Given the description of an element on the screen output the (x, y) to click on. 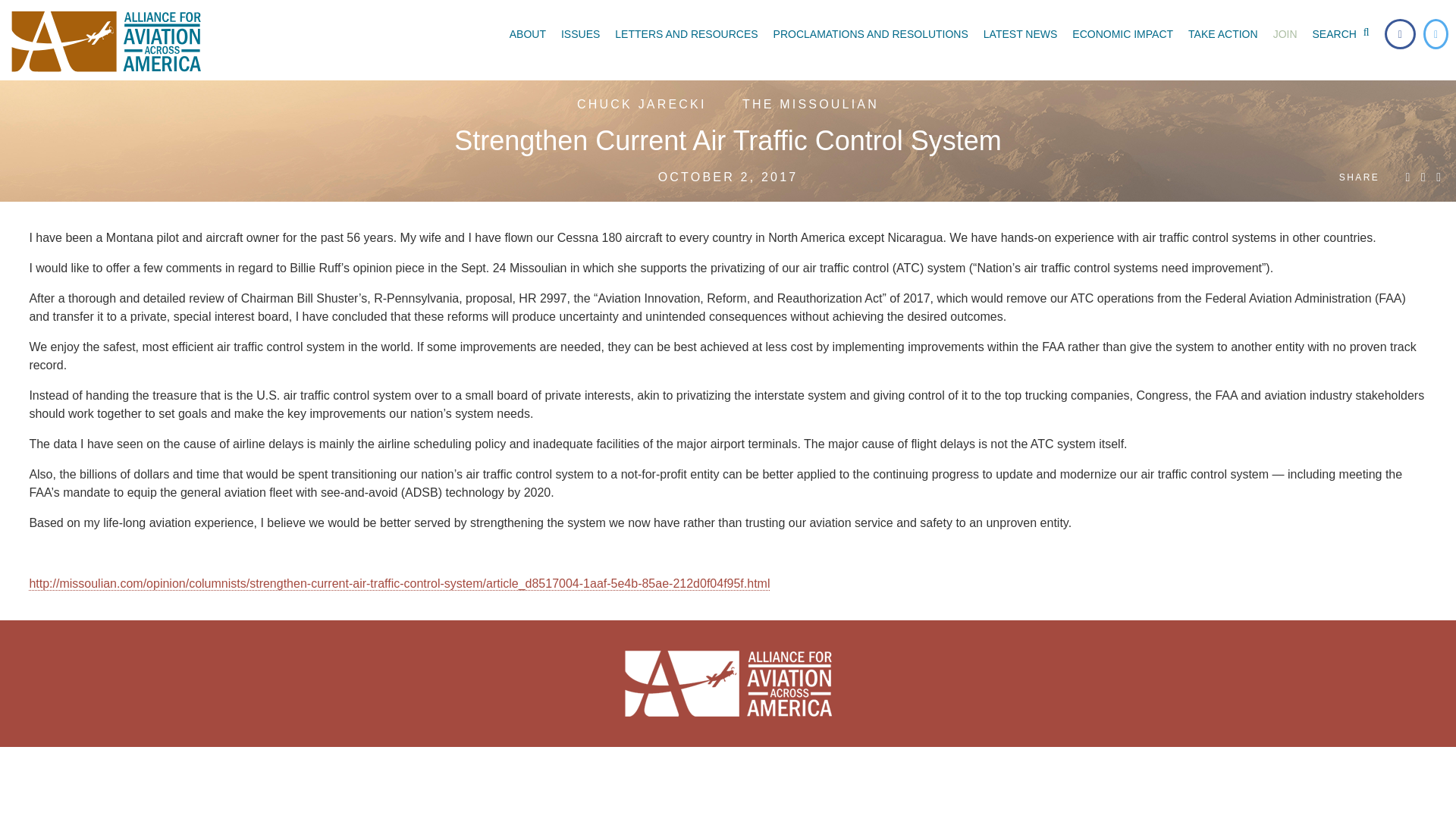
TAKE ACTION (1222, 33)
ABOUT (527, 33)
PROCLAMATIONS AND RESOLUTIONS (870, 33)
SEARCH (1344, 33)
JOIN (1284, 33)
LETTERS AND RESOURCES (686, 33)
ISSUES (580, 33)
ECONOMIC IMPACT (1122, 33)
LATEST NEWS (1020, 33)
